Given the description of an element on the screen output the (x, y) to click on. 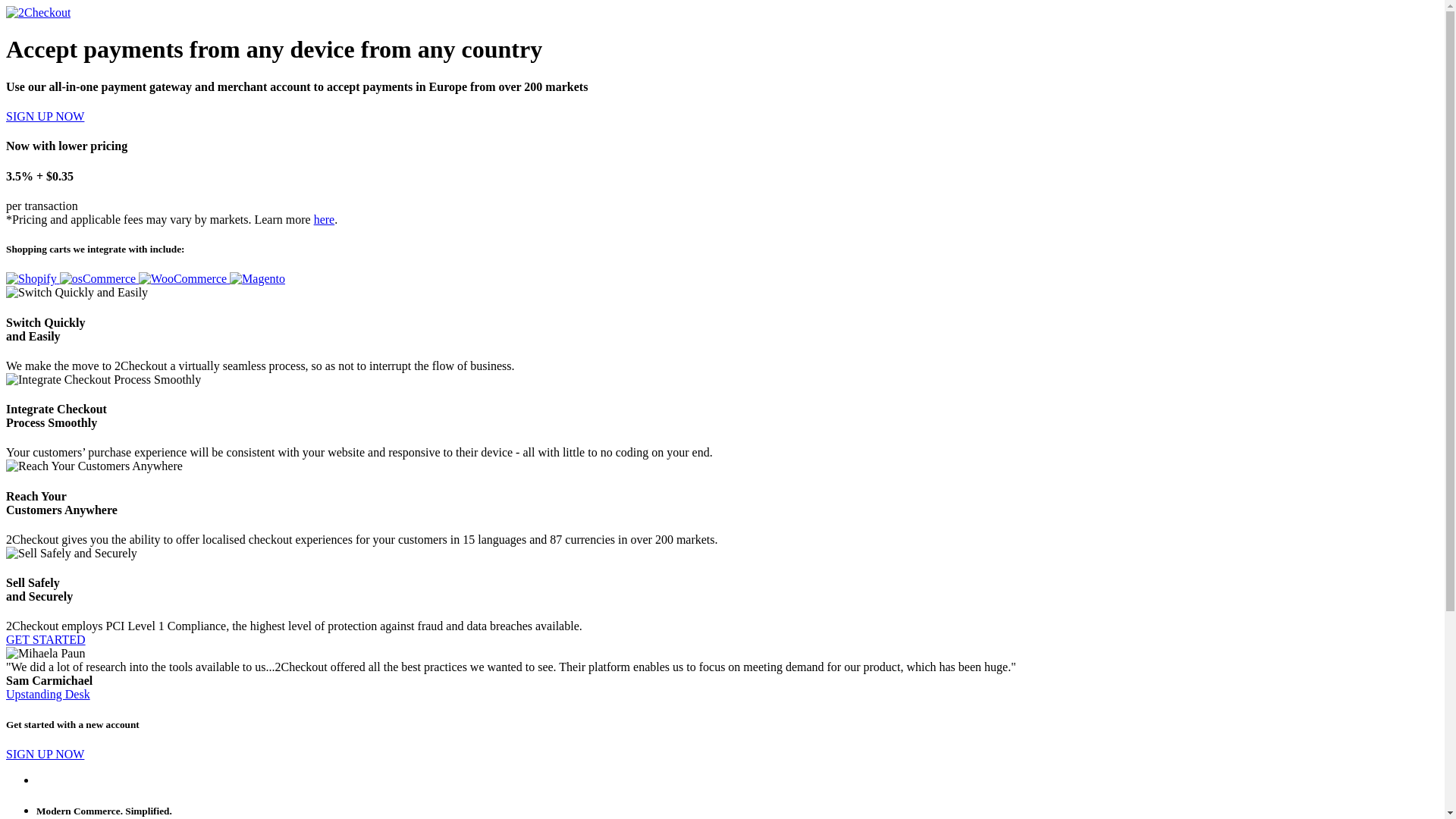
SIGN UP NOW Element type: text (45, 753)
here Element type: text (324, 219)
SIGN UP NOW Element type: text (45, 115)
GET STARTED Element type: text (45, 639)
Upstanding Desk Element type: text (48, 693)
